Given the description of an element on the screen output the (x, y) to click on. 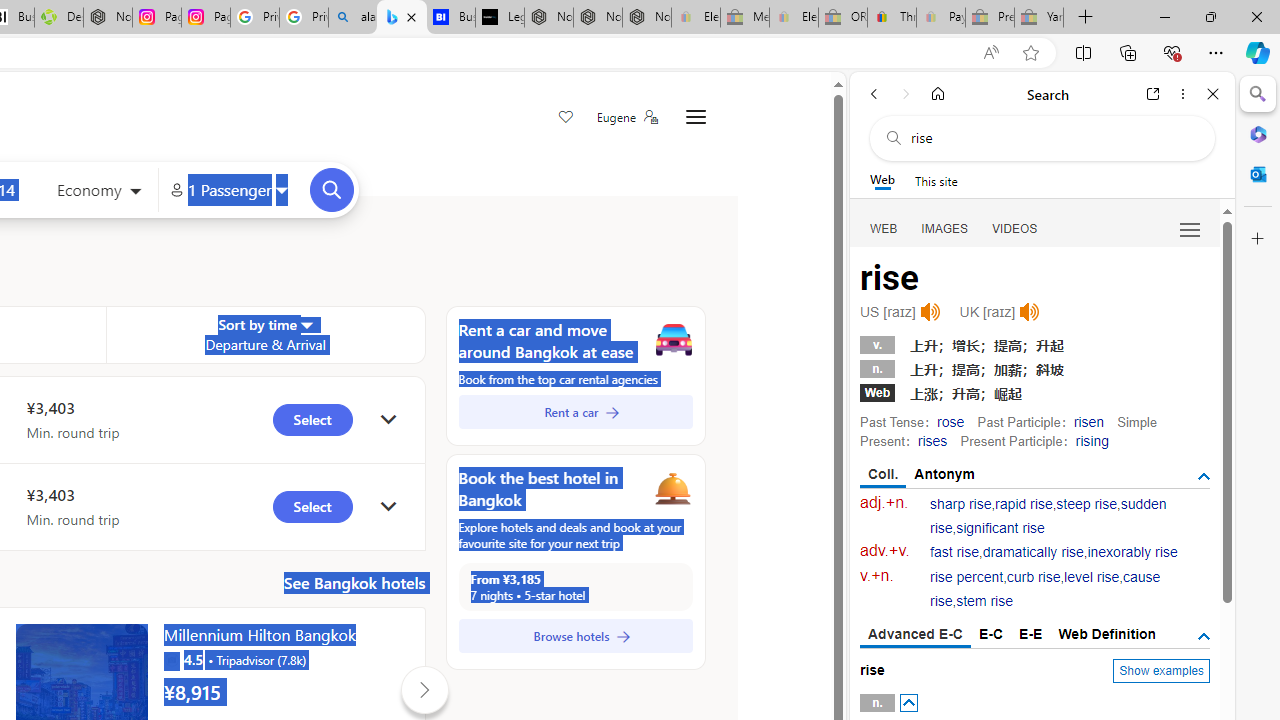
Coll. (883, 475)
inexorably rise (1131, 552)
rising (1091, 440)
Web scope (882, 180)
Browse hotels (575, 636)
Search Filter, VIDEOS (1015, 228)
dramatically rise (1032, 552)
